Given the description of an element on the screen output the (x, y) to click on. 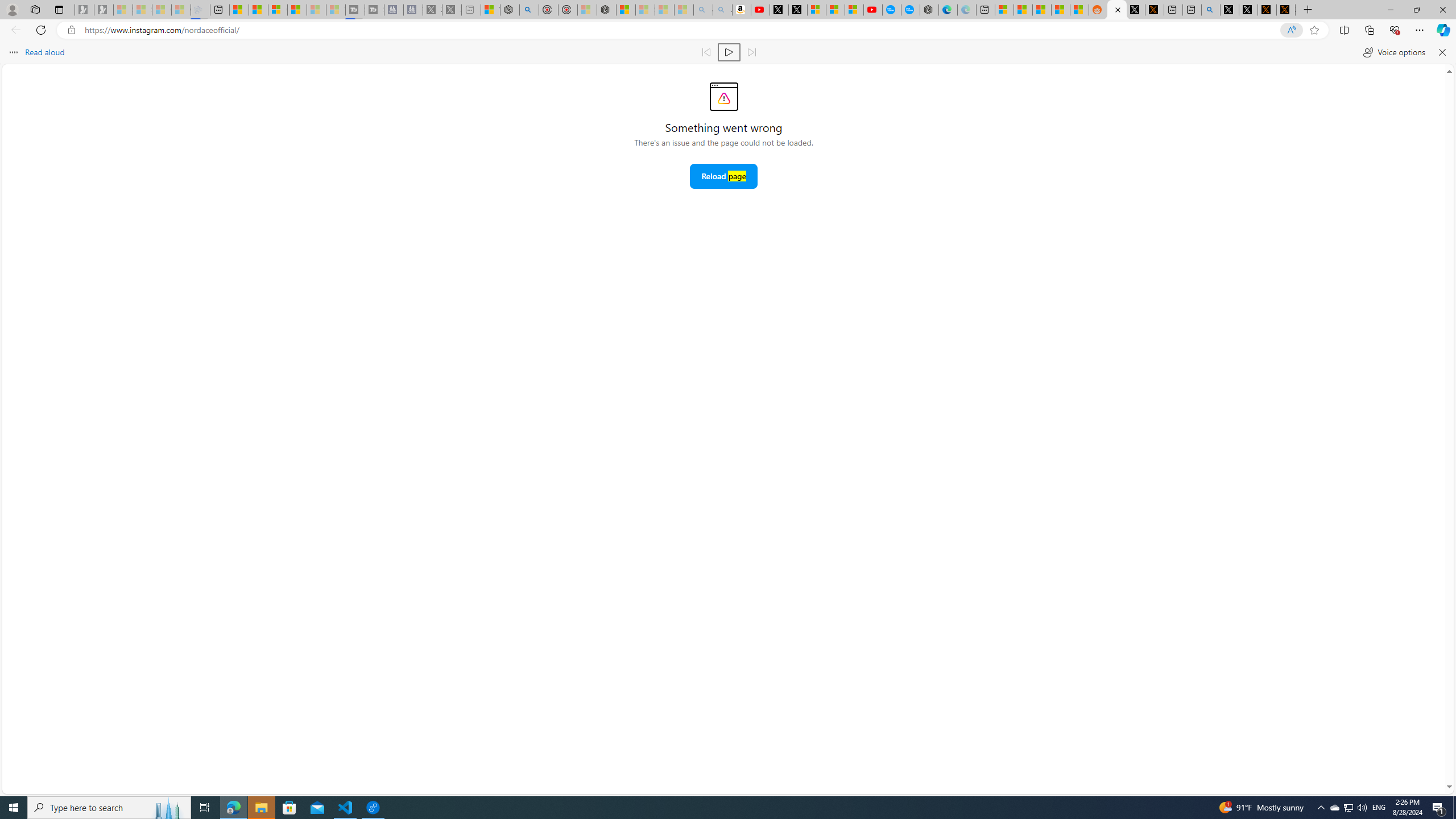
Reload page (723, 176)
Shanghai, China weather forecast | Microsoft Weather (1022, 9)
Newsletter Sign Up - Sleeping (102, 9)
Streaming Coverage | T3 - Sleeping (354, 9)
X (797, 9)
